Given the description of an element on the screen output the (x, y) to click on. 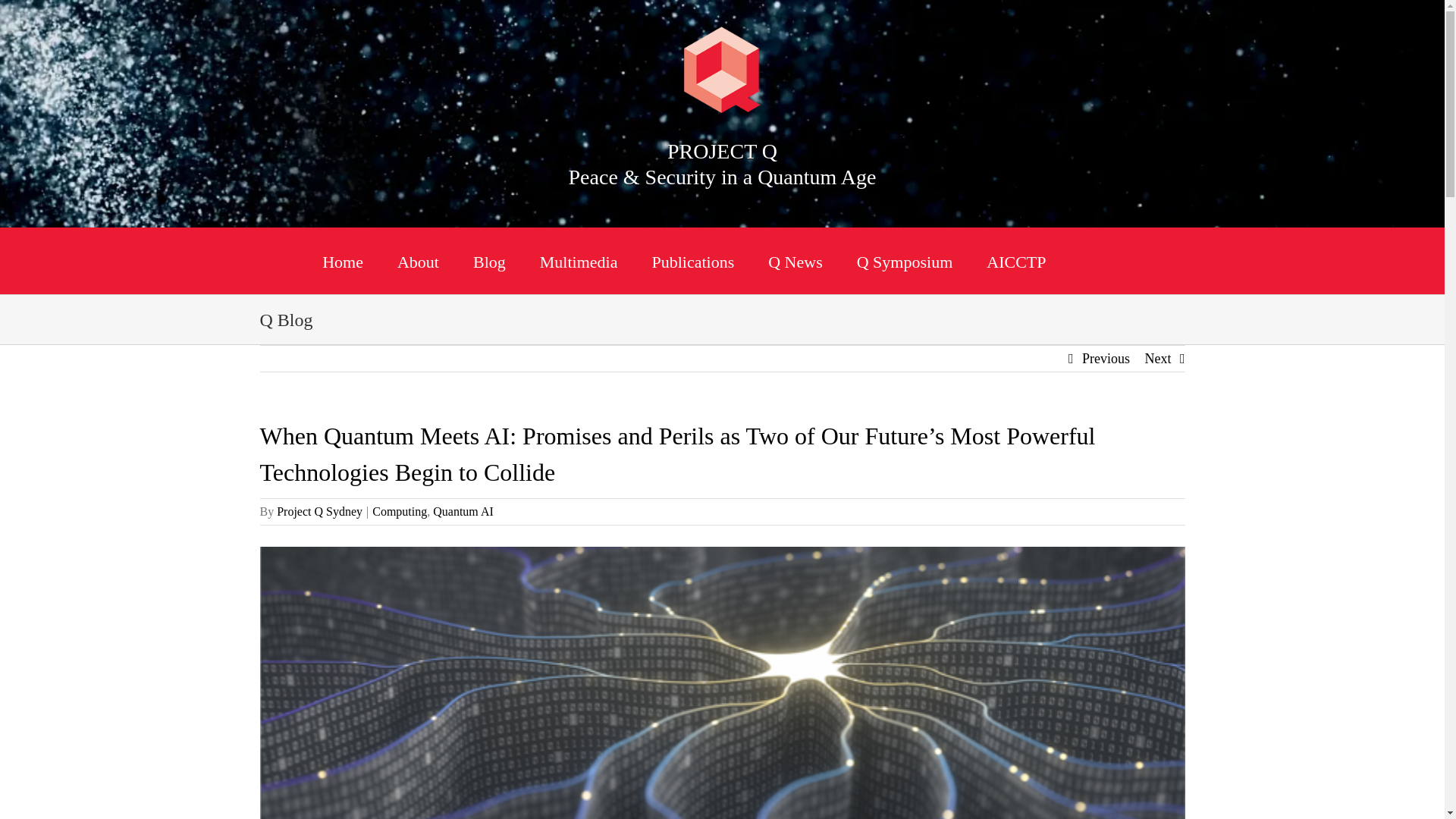
Multimedia (578, 260)
Publications (691, 260)
Q Symposium (905, 260)
Posts by Project Q Sydney (319, 511)
